Given the description of an element on the screen output the (x, y) to click on. 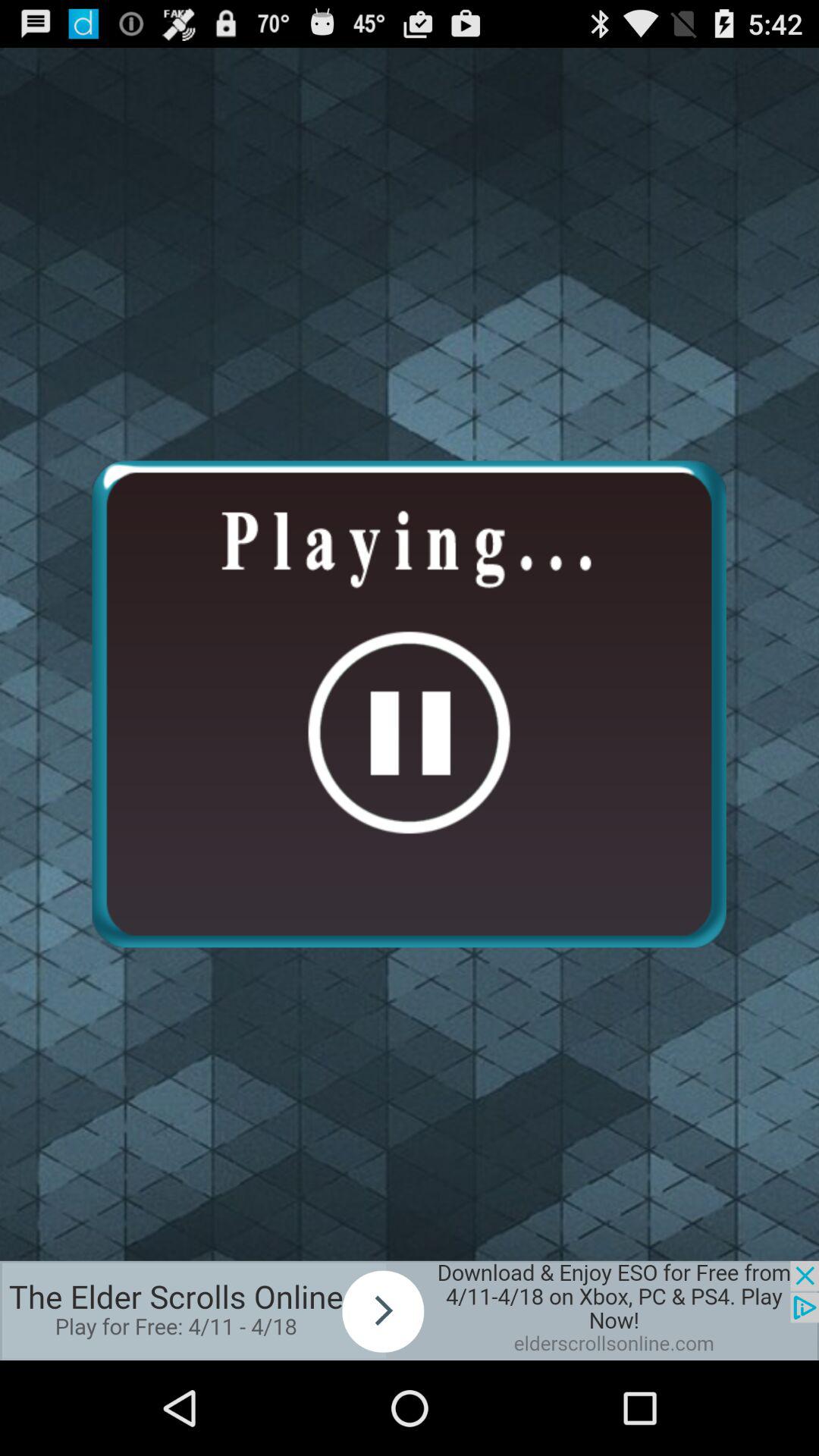
play (409, 1310)
